Given the description of an element on the screen output the (x, y) to click on. 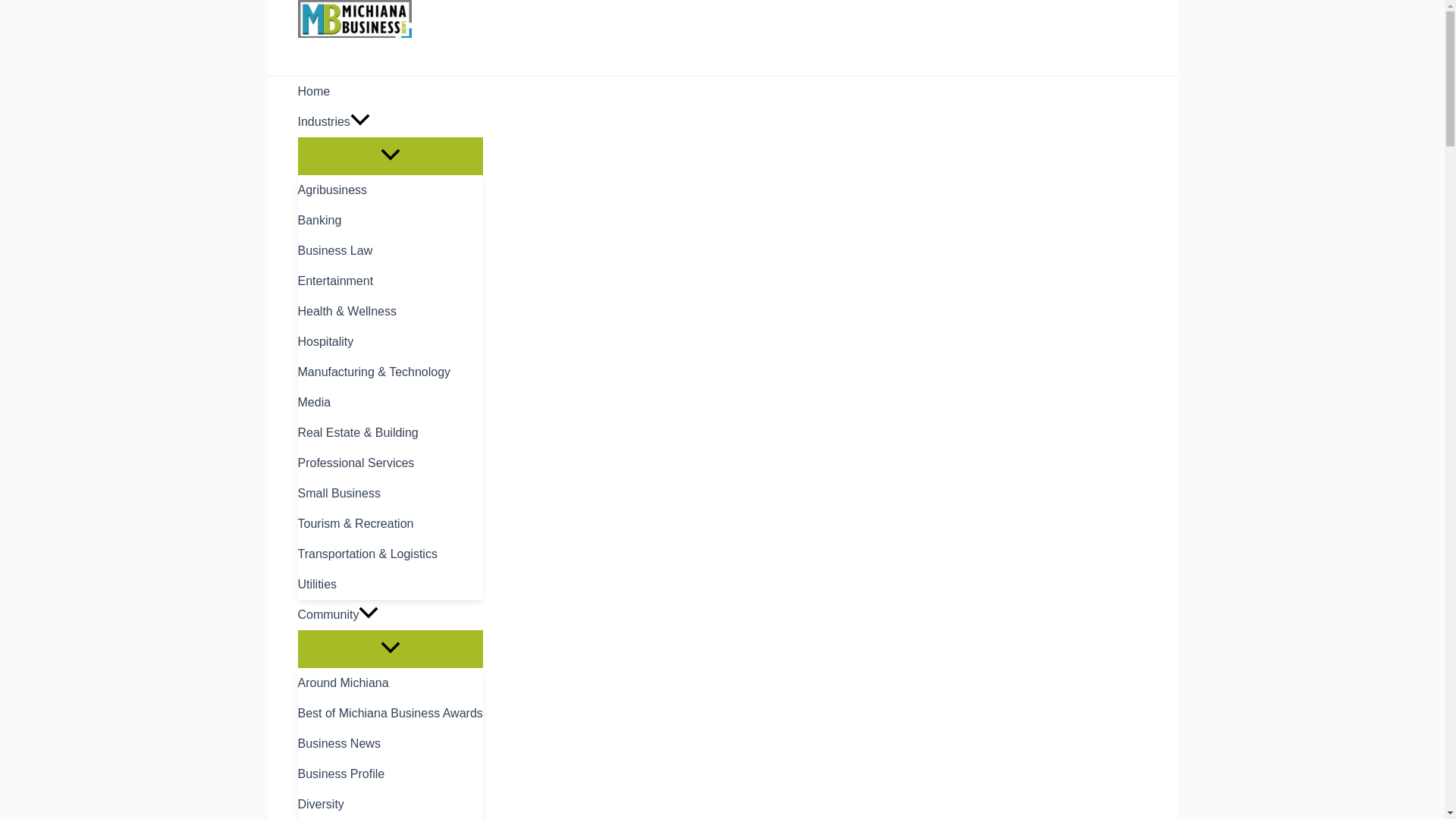
Industries (389, 122)
Hospitality (389, 341)
Professional Services (389, 462)
Menu Toggle (389, 155)
Banking (389, 220)
Menu Toggle (389, 647)
Utilities (389, 584)
Media (389, 402)
Diversity (389, 804)
Business Law (389, 250)
